Given the description of an element on the screen output the (x, y) to click on. 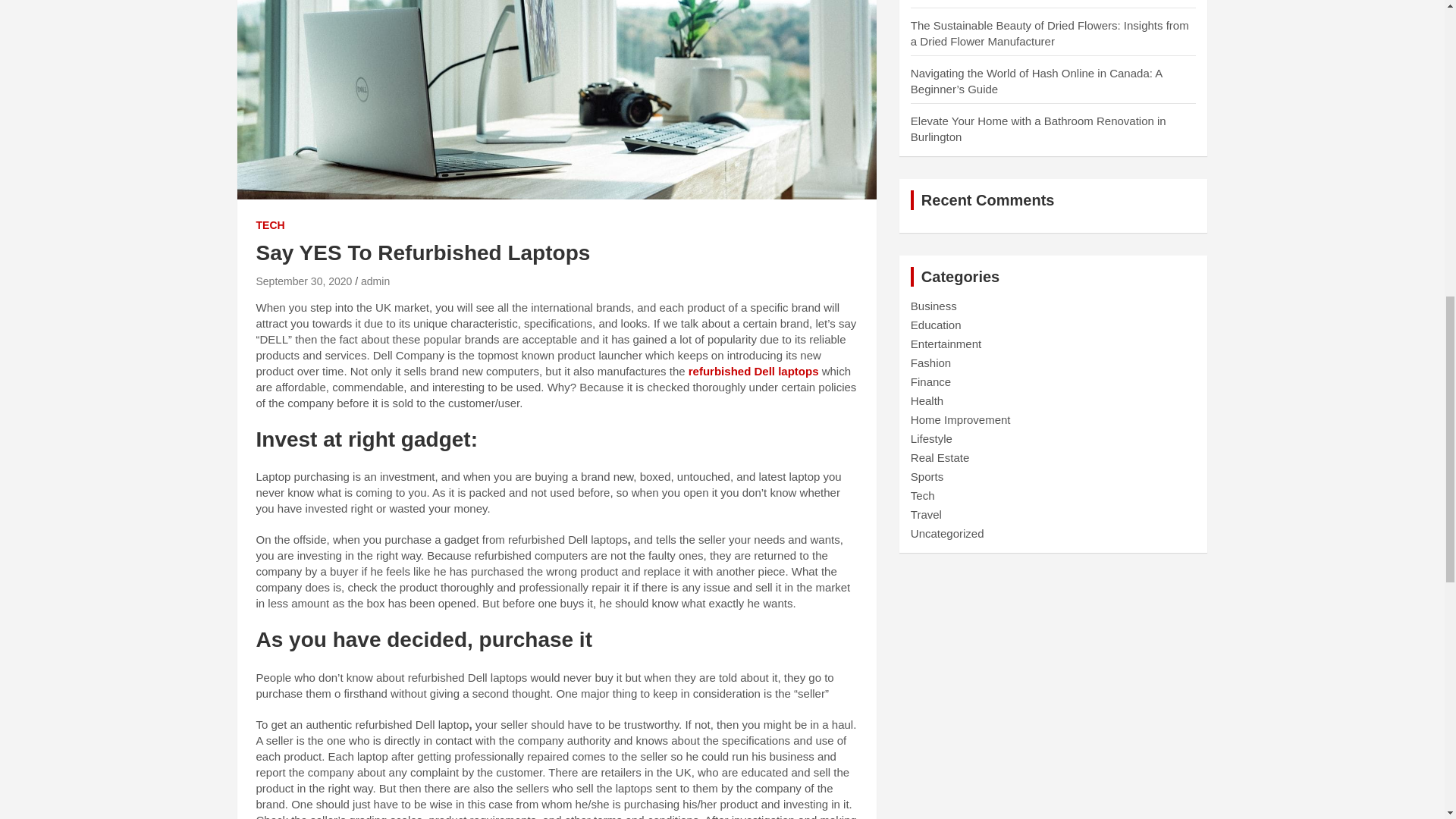
admin (375, 281)
Home Improvement (960, 419)
Business (933, 305)
Education (935, 324)
Fashion (930, 362)
September 30, 2020 (304, 281)
Lifestyle (931, 438)
Elevate Your Home with a Bathroom Renovation in Burlington (1038, 128)
Finance (930, 381)
